Given the description of an element on the screen output the (x, y) to click on. 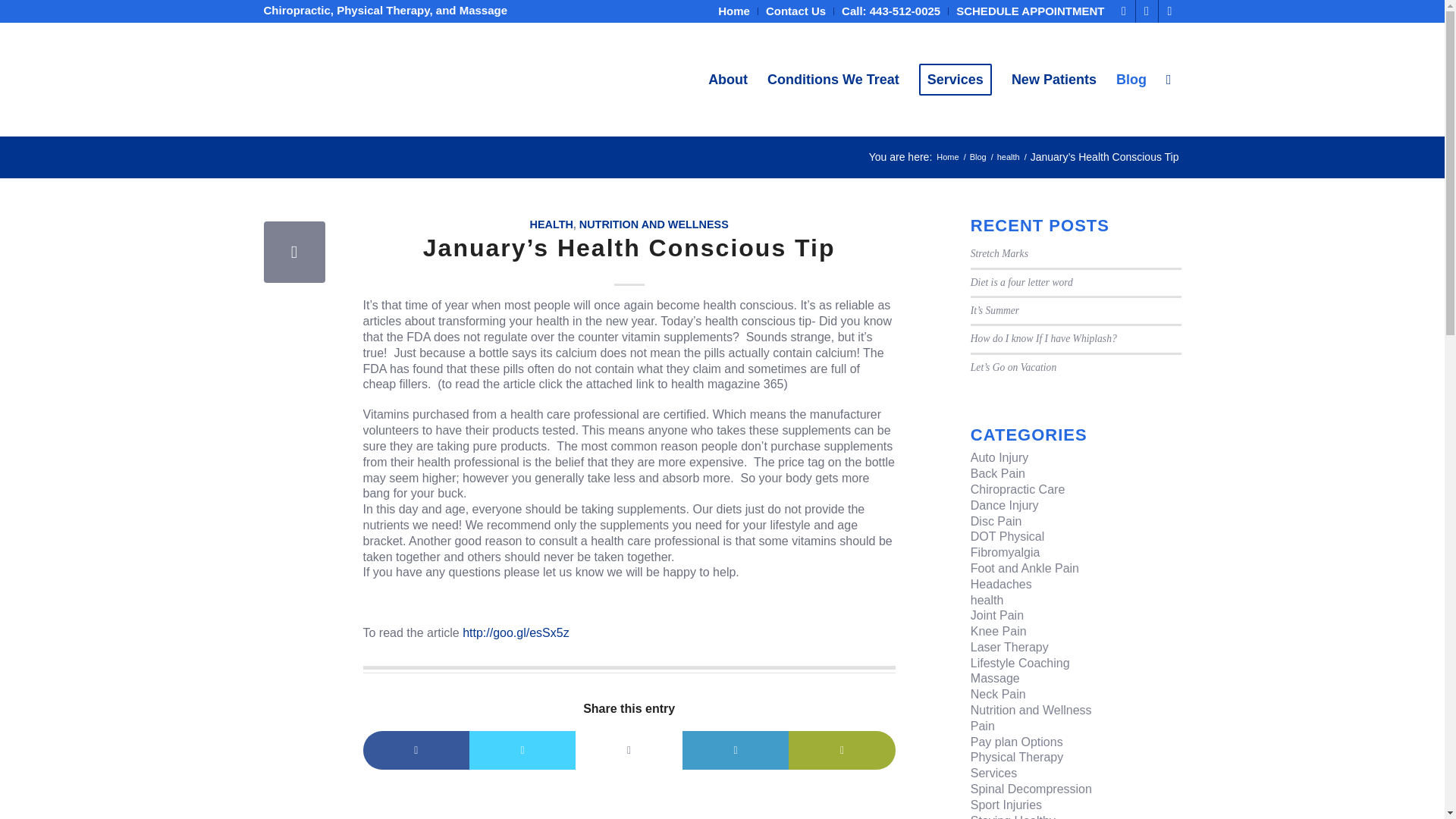
Conditions We Treat (832, 79)
January's Health Conscious Tip (293, 251)
Home (733, 11)
Blog (978, 156)
SCHEDULE APPOINTMENT (1029, 11)
Youtube (1169, 11)
Contact Us (795, 11)
X (1146, 11)
Facebook (1124, 11)
Call: 443-512-0025 (890, 11)
